Given the description of an element on the screen output the (x, y) to click on. 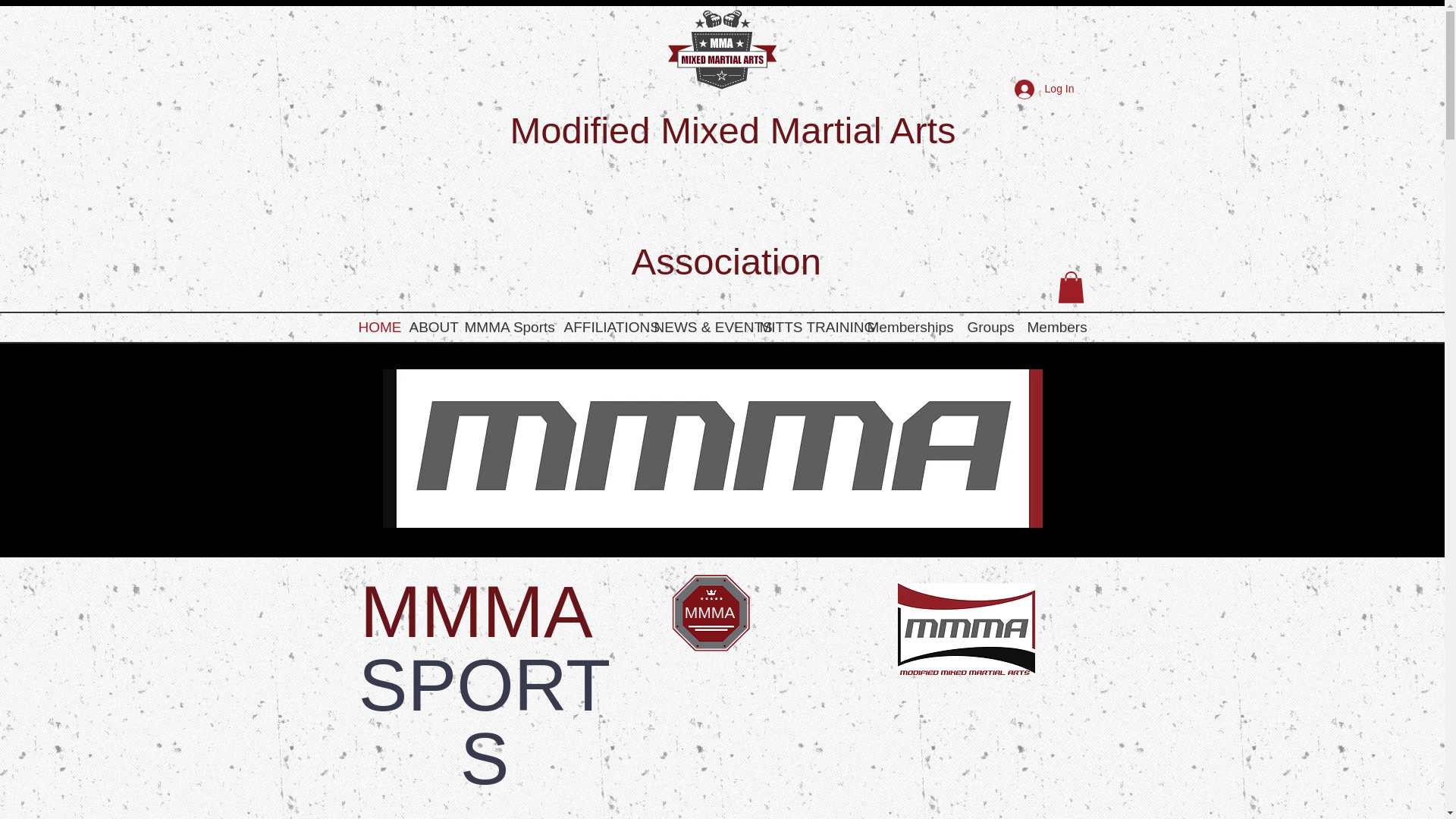
Memberships (909, 327)
AFFILIATIONS (601, 327)
HOME (375, 327)
MITTS TRAINING (806, 327)
MMMA Sports (506, 327)
Groups (989, 327)
logo-final2.png (721, 48)
Log In (1044, 89)
Members (1056, 327)
ABOUT (429, 327)
